Given the description of an element on the screen output the (x, y) to click on. 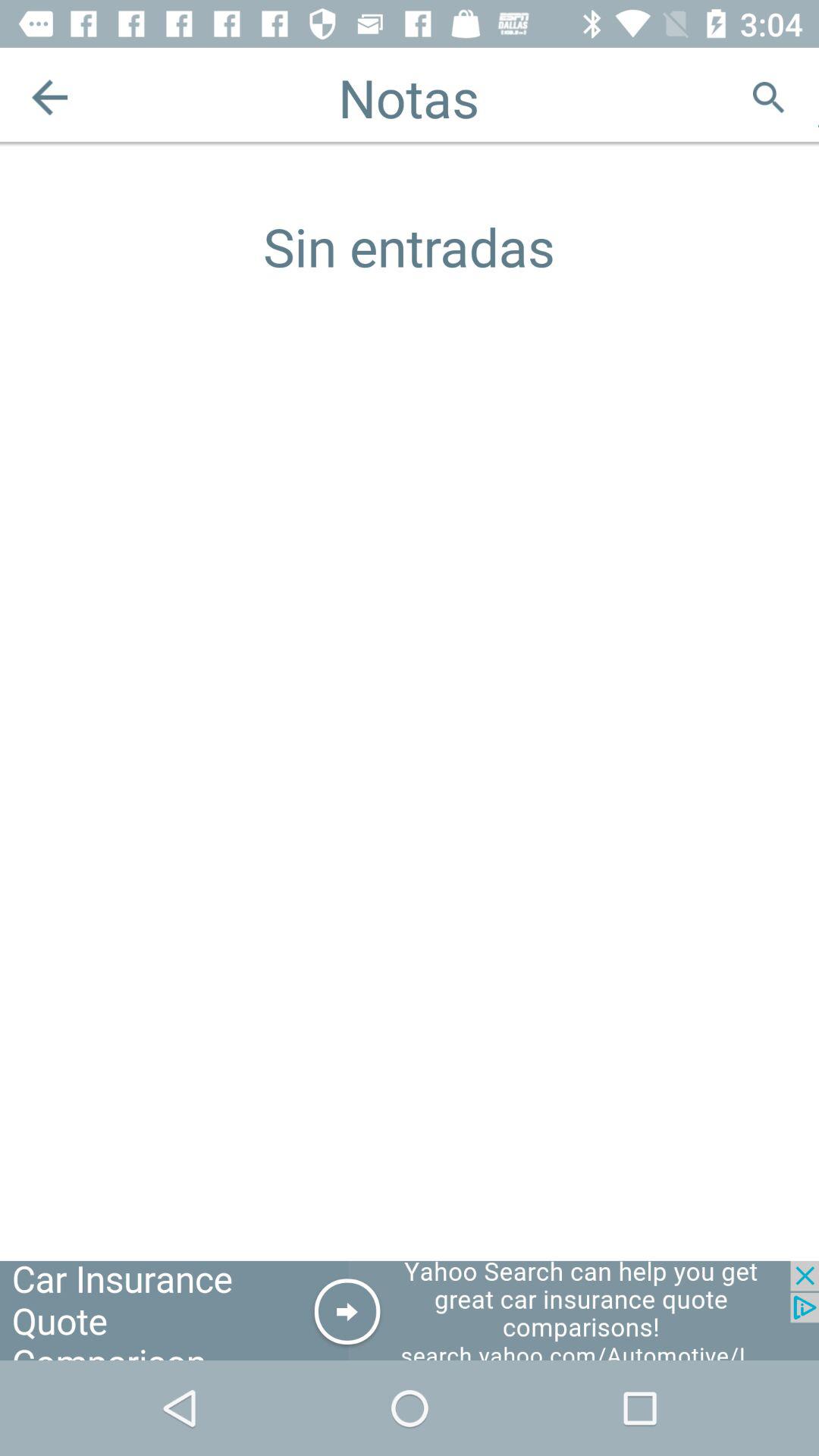
go to search (768, 97)
